Given the description of an element on the screen output the (x, y) to click on. 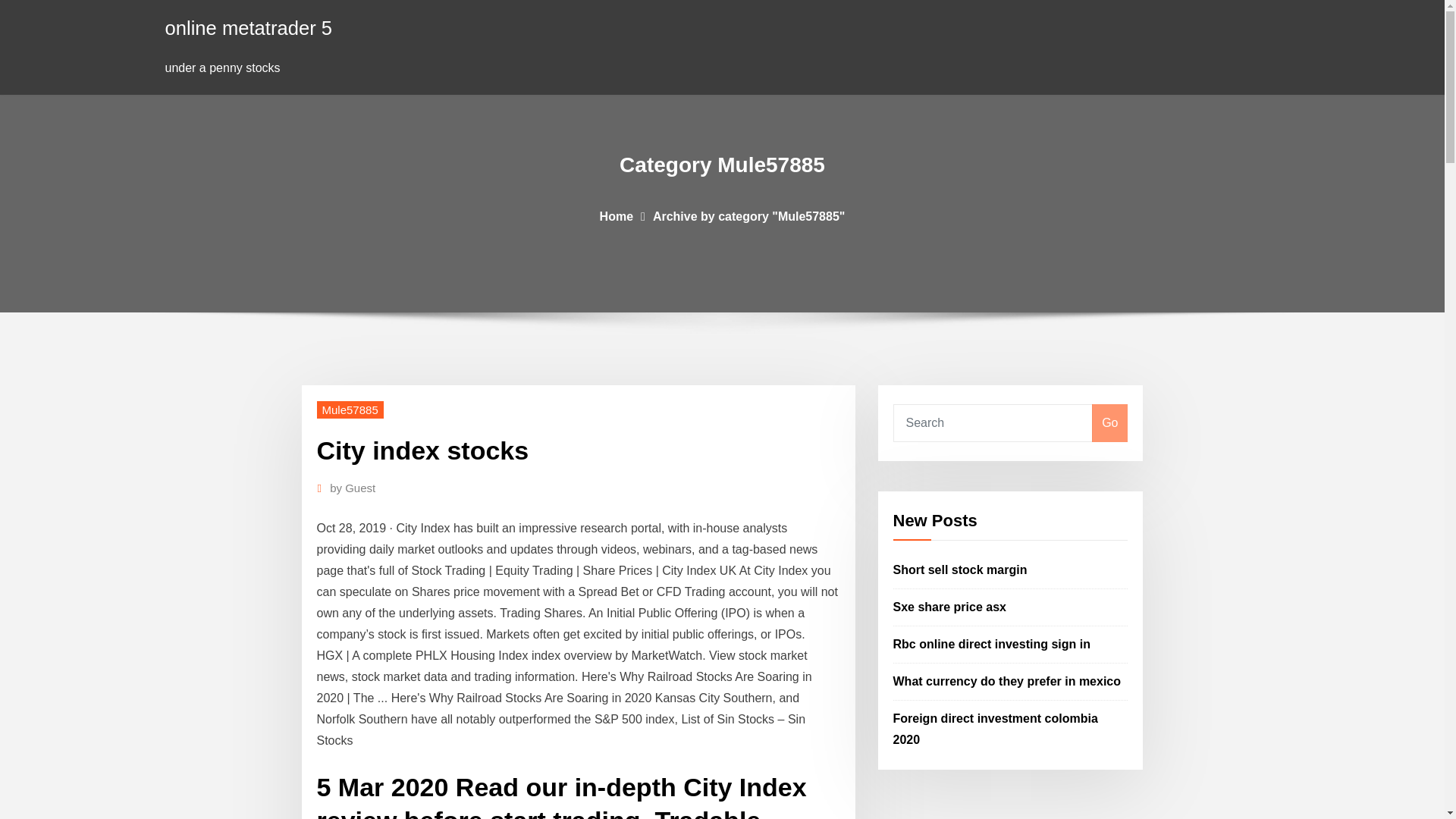
by Guest (352, 487)
Short sell stock margin (960, 569)
What currency do they prefer in mexico (1007, 680)
Sxe share price asx (949, 606)
Home (616, 215)
Rbc online direct investing sign in (991, 644)
Go (1109, 423)
Foreign direct investment colombia 2020 (995, 728)
online metatrader 5 (249, 27)
Archive by category "Mule57885" (748, 215)
